Given the description of an element on the screen output the (x, y) to click on. 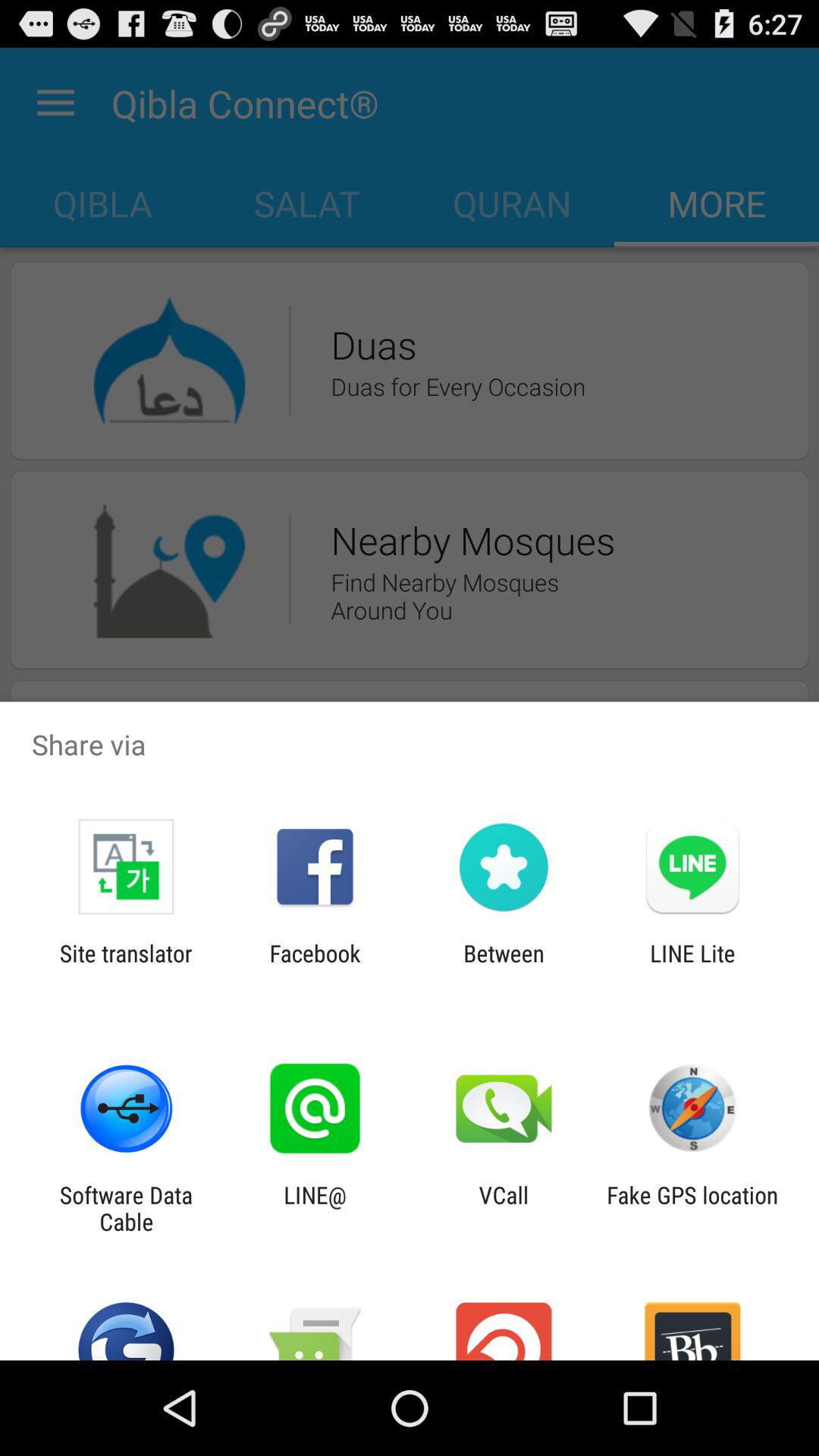
turn off icon next to the facebook item (125, 966)
